Given the description of an element on the screen output the (x, y) to click on. 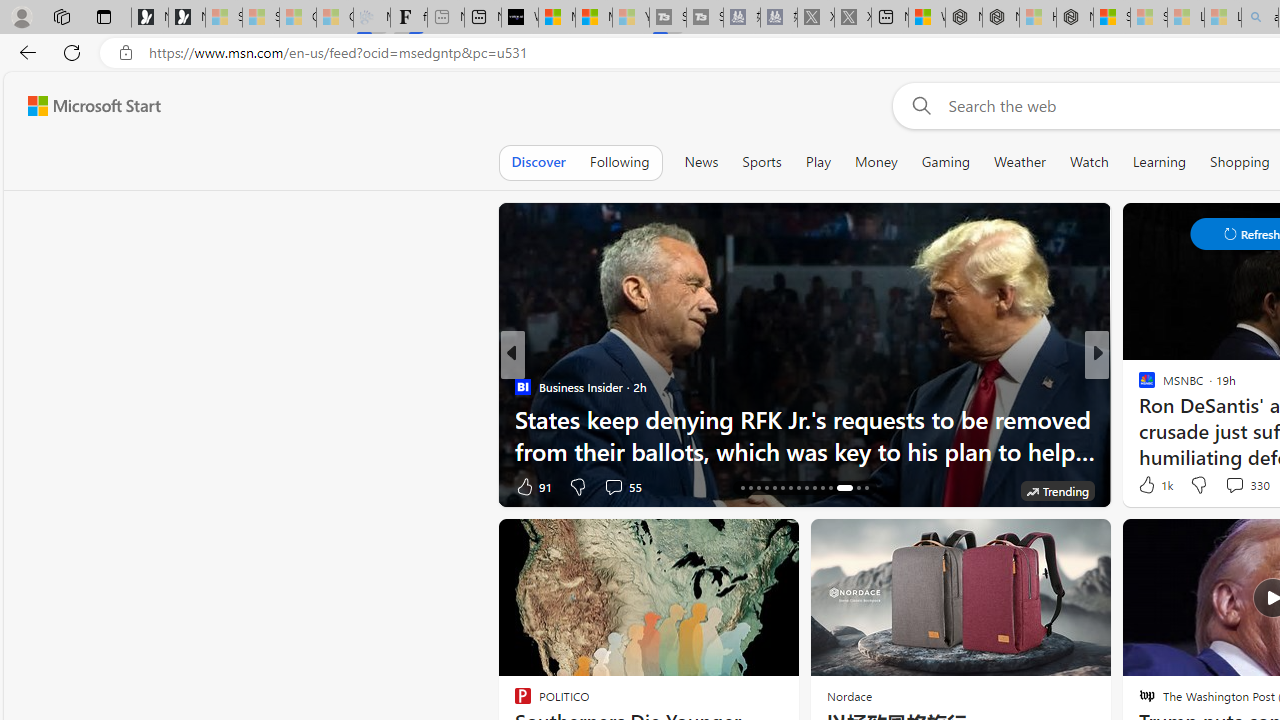
91 Like (532, 486)
Sports (761, 161)
Skip to footer (82, 105)
Hide this story (738, 542)
Business Insider (522, 386)
Newsletter Sign Up (186, 17)
ABC News (1138, 386)
AutomationID: tab-21 (782, 487)
